Given the description of an element on the screen output the (x, y) to click on. 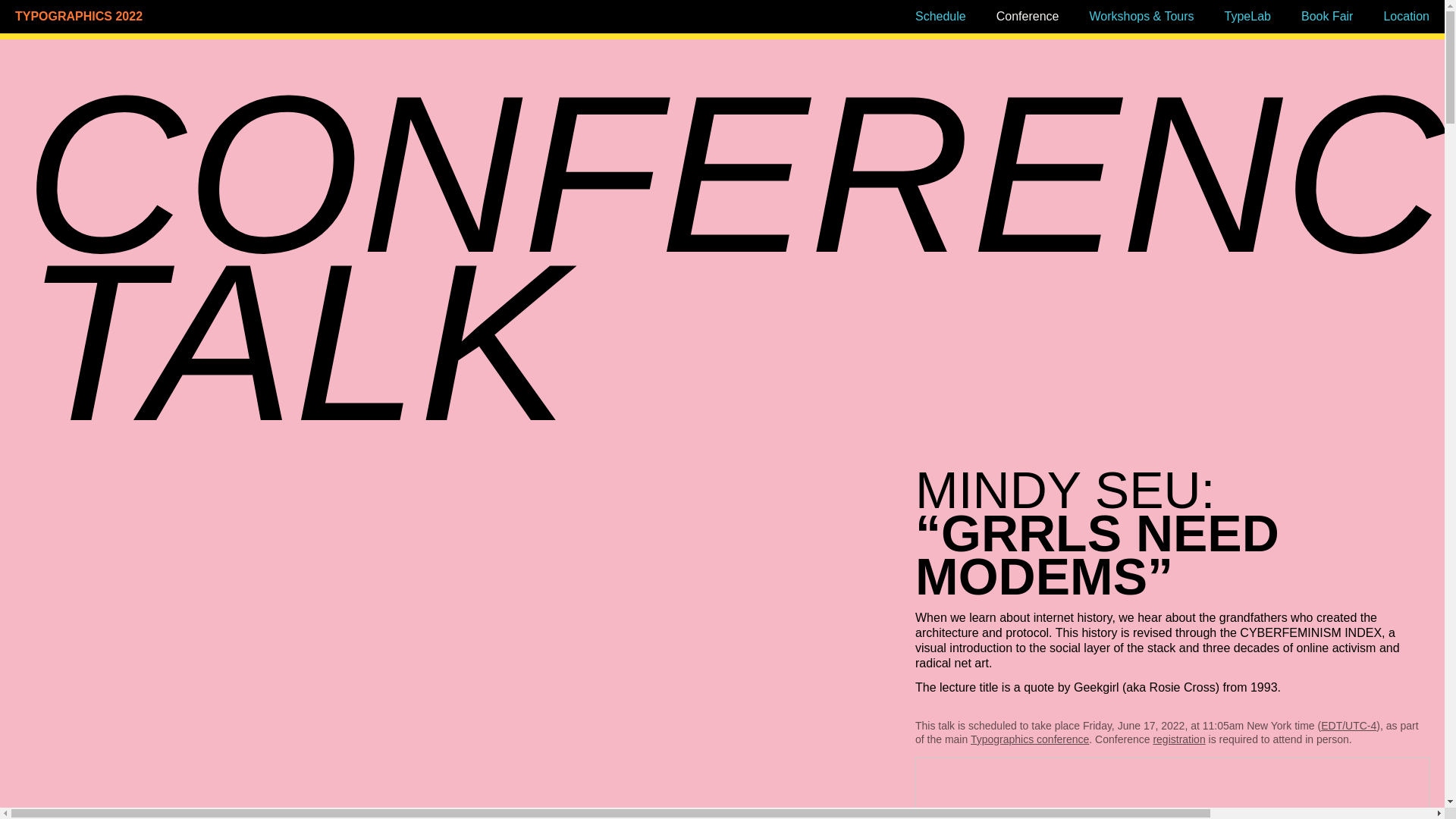
Typographics conference (1030, 739)
TypeLab (1247, 15)
Book Fair (1326, 15)
TYPOGRAPHICS 2022 (185, 16)
registration (1179, 739)
Conference (1027, 15)
Location (1406, 15)
Schedule (940, 15)
